Given the description of an element on the screen output the (x, y) to click on. 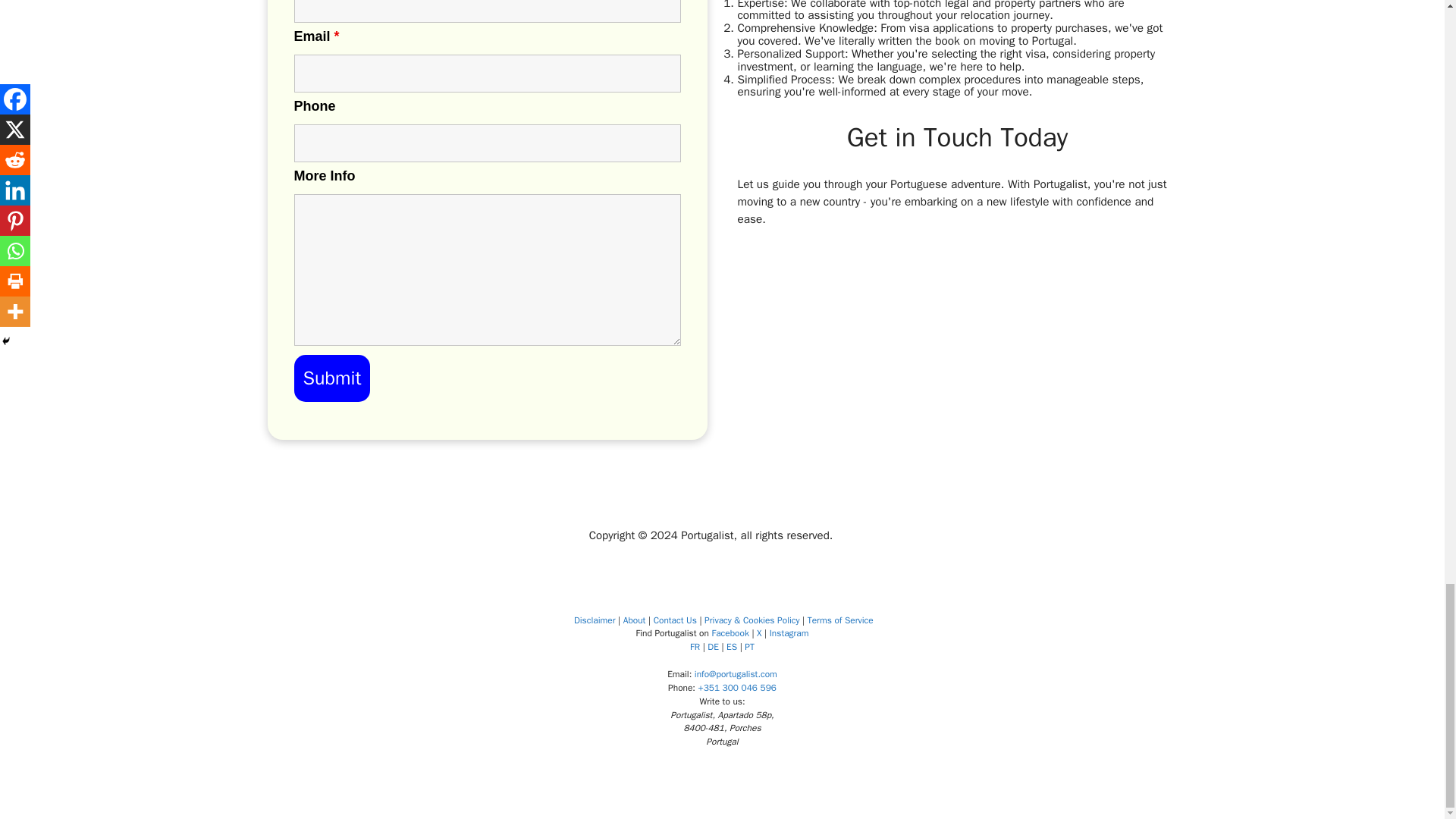
Submit (332, 378)
